Given the description of an element on the screen output the (x, y) to click on. 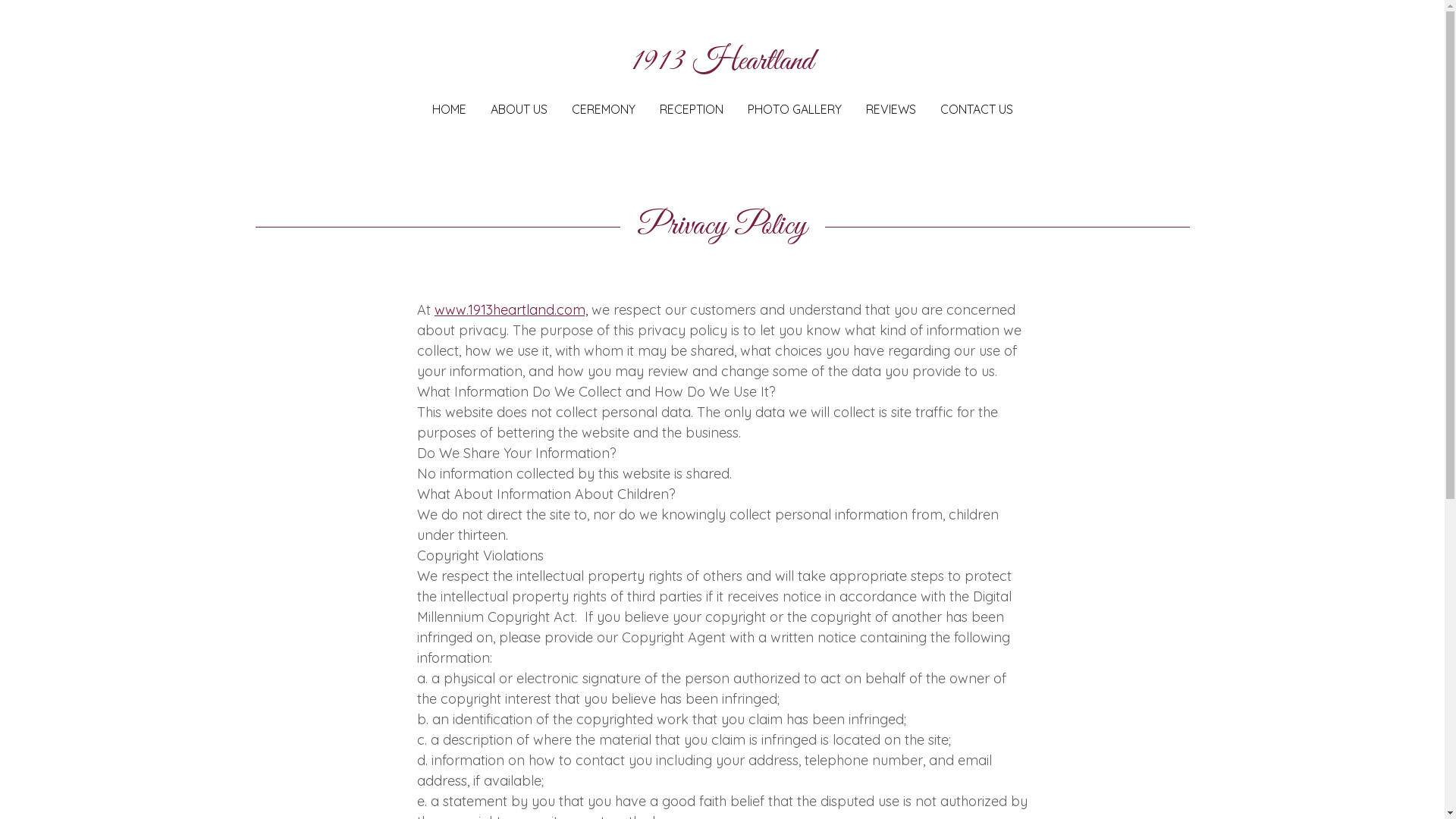
REVIEWS Element type: text (890, 108)
PHOTO GALLERY Element type: text (794, 108)
HOME Element type: text (448, 108)
CEREMONY Element type: text (603, 108)
www.1913heartland.com, Element type: text (510, 309)
CONTACT US Element type: text (976, 108)
ABOUT US Element type: text (518, 108)
1913 Heartland Element type: text (721, 63)
RECEPTION Element type: text (691, 108)
